Given the description of an element on the screen output the (x, y) to click on. 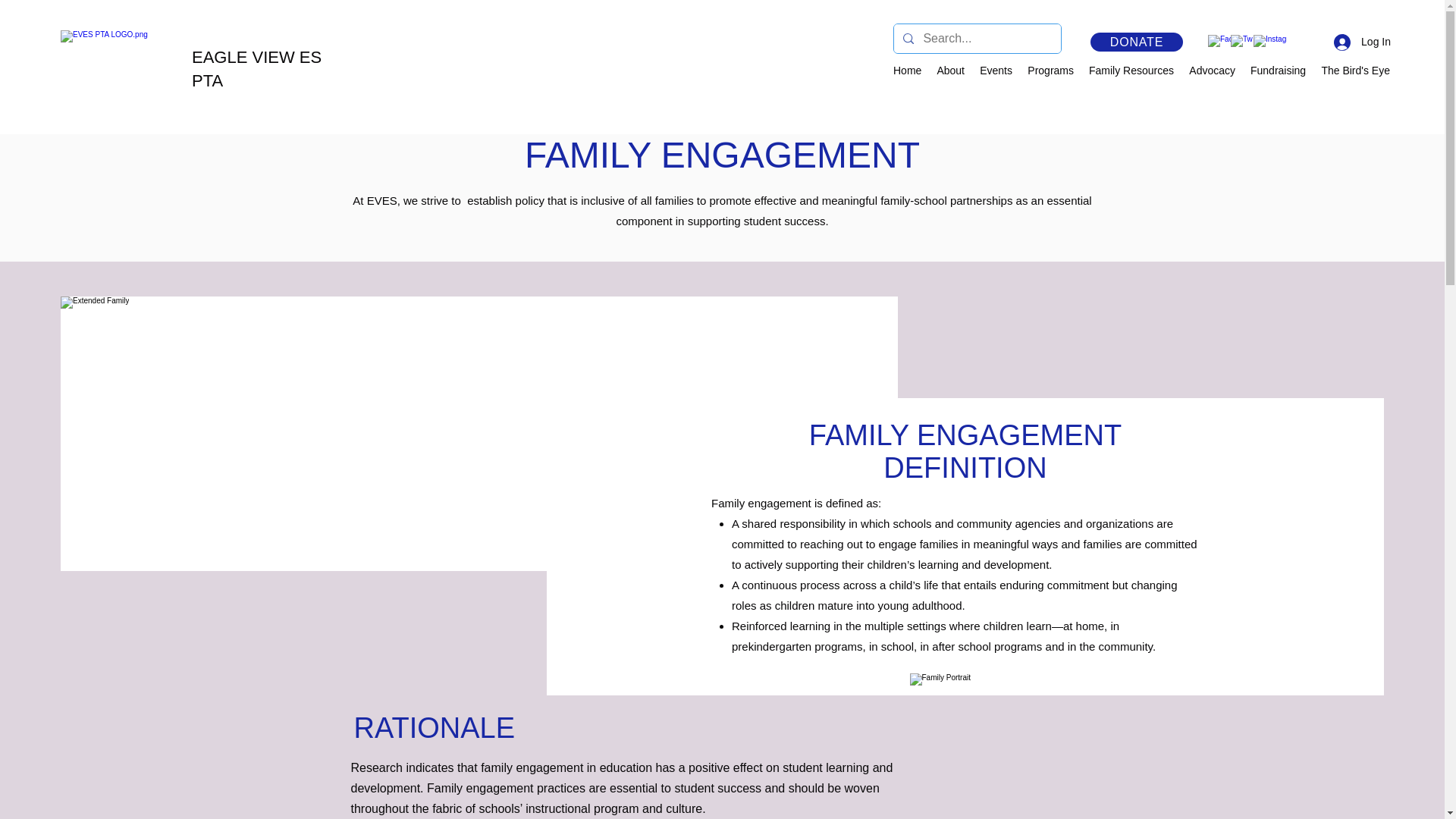
Log In (1361, 41)
DONATE (1136, 41)
EAGLE VIEW ES PTA (256, 68)
Home (906, 69)
